Given the description of an element on the screen output the (x, y) to click on. 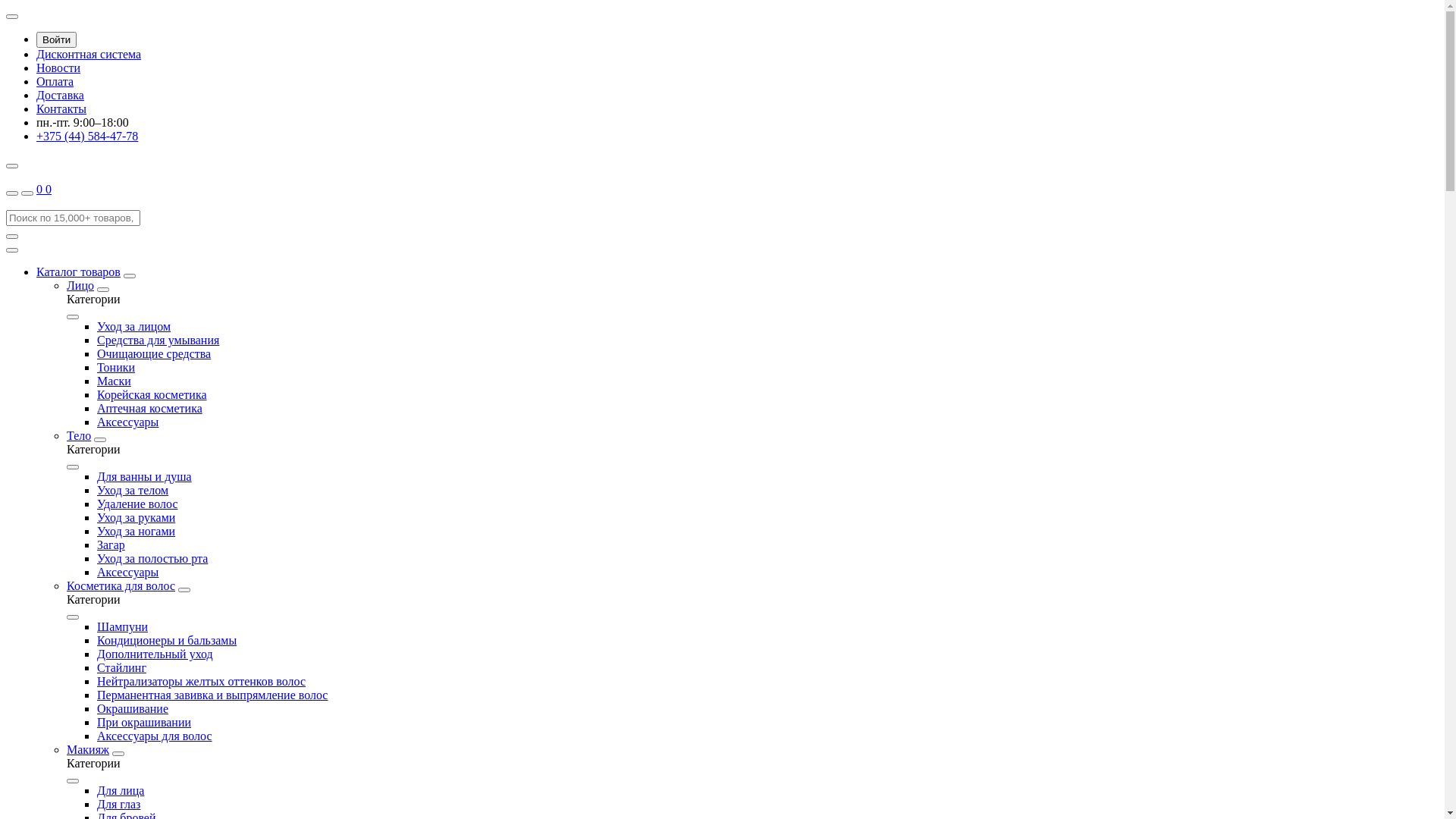
0 Element type: text (40, 188)
0 Element type: text (48, 188)
+375 (44) 584-47-78 Element type: text (87, 135)
